Given the description of an element on the screen output the (x, y) to click on. 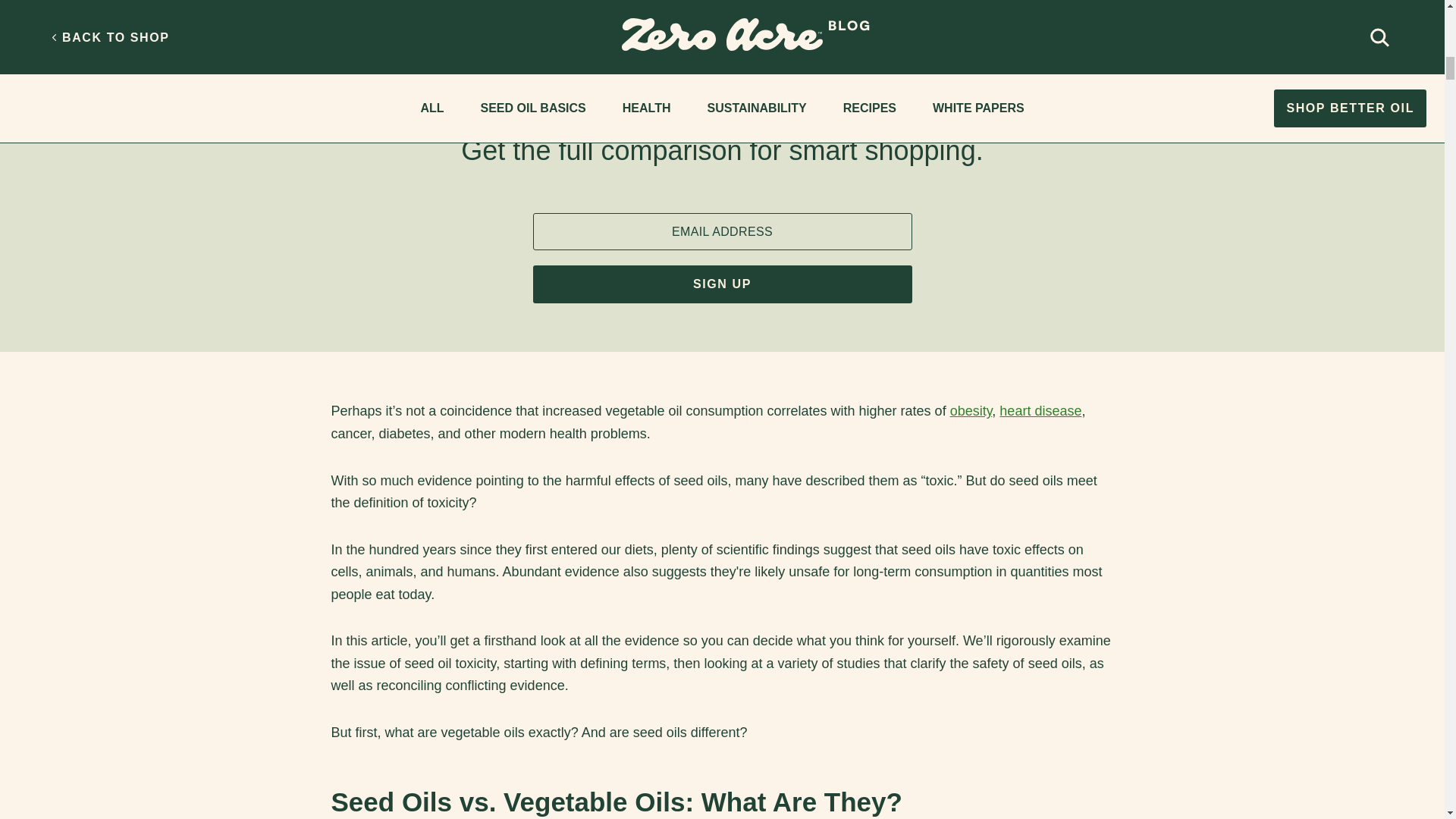
obesity (971, 410)
heart disease (1039, 410)
SIGN UP (721, 284)
